Given the description of an element on the screen output the (x, y) to click on. 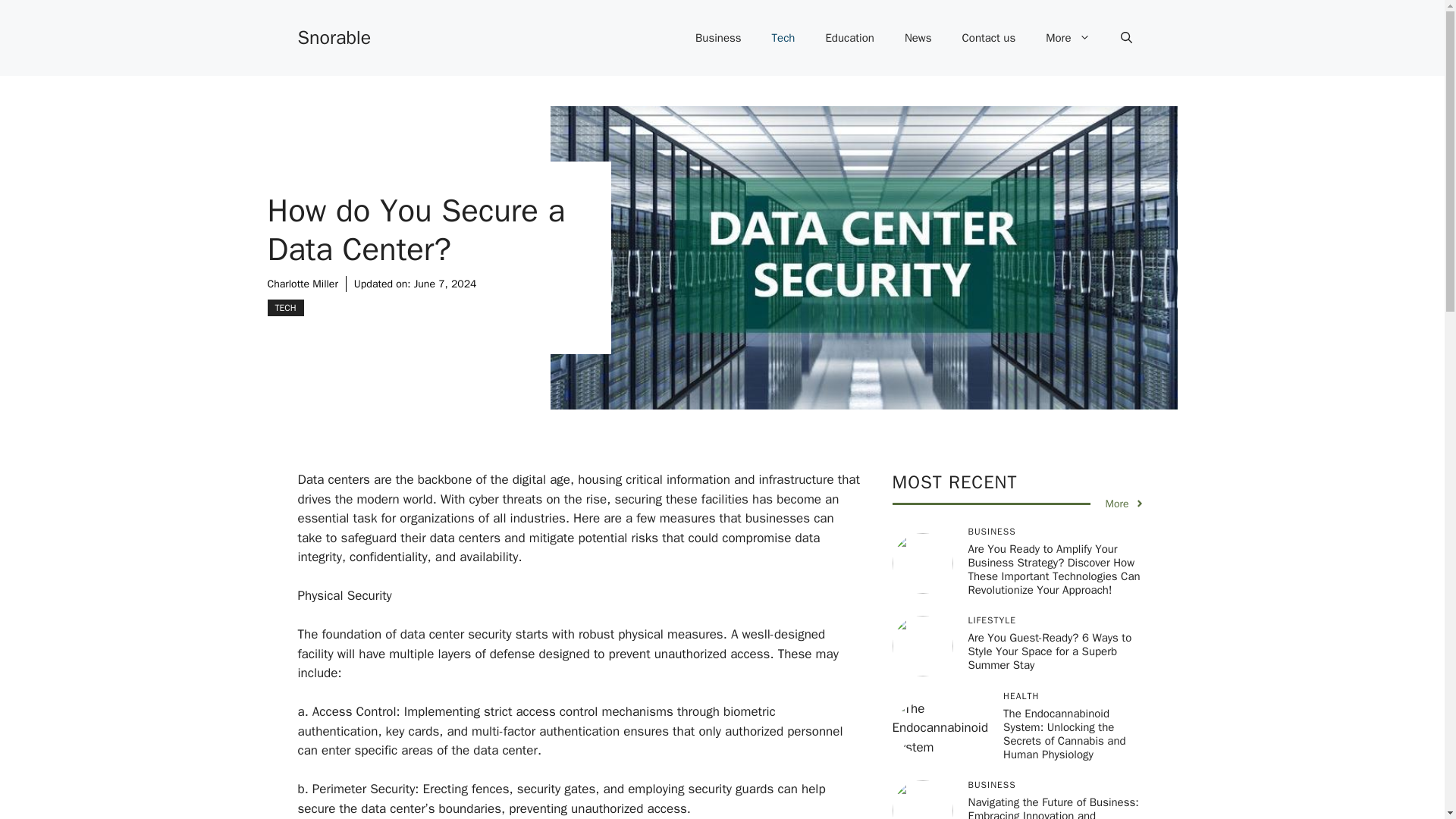
Charlotte Miller (301, 283)
Snorable (334, 37)
Contact us (988, 37)
News (918, 37)
TECH (284, 307)
More (1067, 37)
Education (848, 37)
Business (718, 37)
Tech (783, 37)
More (1124, 503)
